Given the description of an element on the screen output the (x, y) to click on. 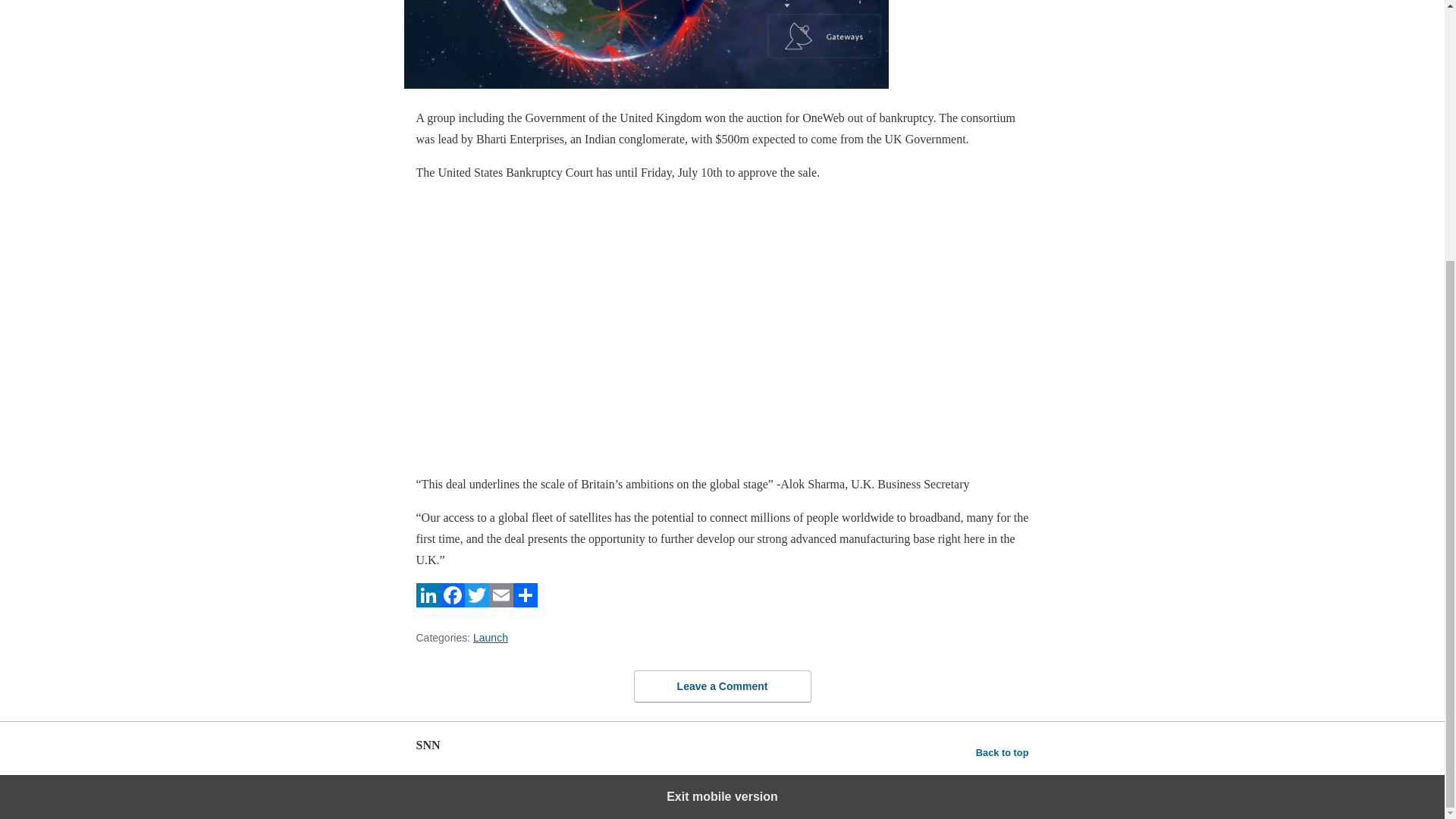
Email (499, 603)
LinkedIn (426, 603)
Back to top (1002, 752)
Launch (490, 637)
Twitter (475, 603)
Facebook (451, 603)
Leave a Comment (721, 685)
